Given the description of an element on the screen output the (x, y) to click on. 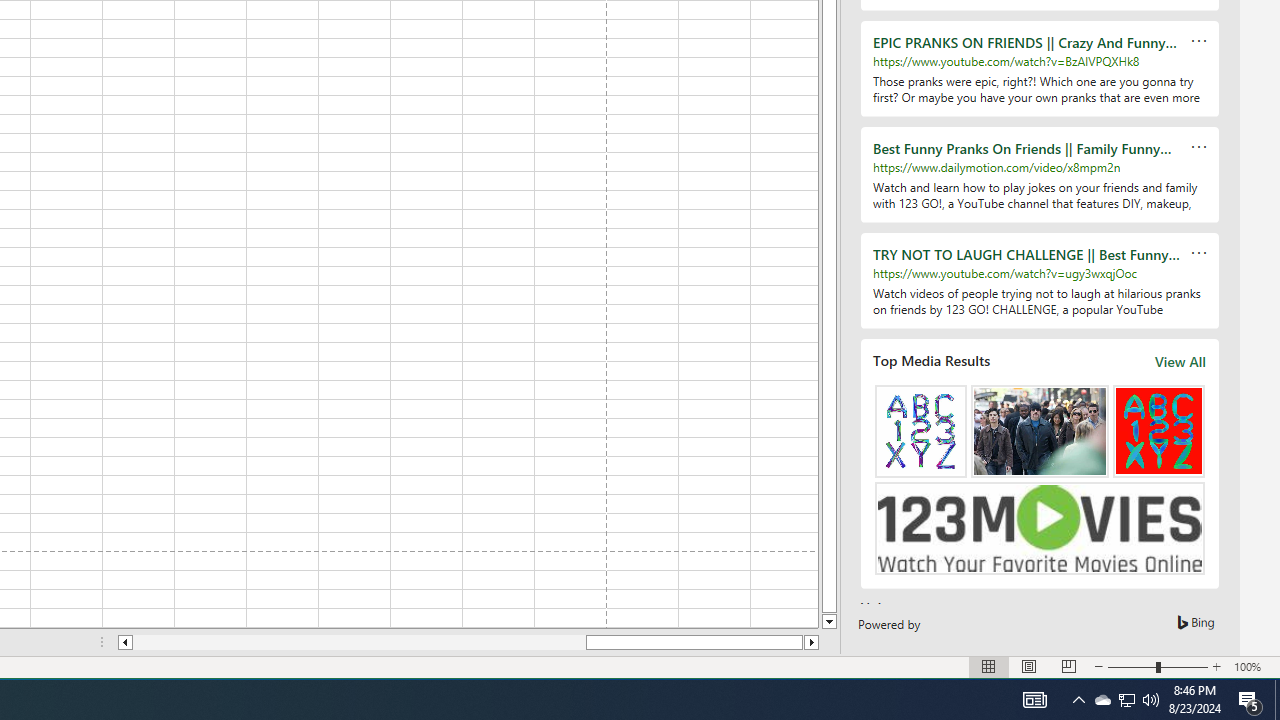
Q2790: 100% (1151, 699)
AutomationID: 4105 (1034, 699)
Notification Chevron (1078, 699)
